Given the description of an element on the screen output the (x, y) to click on. 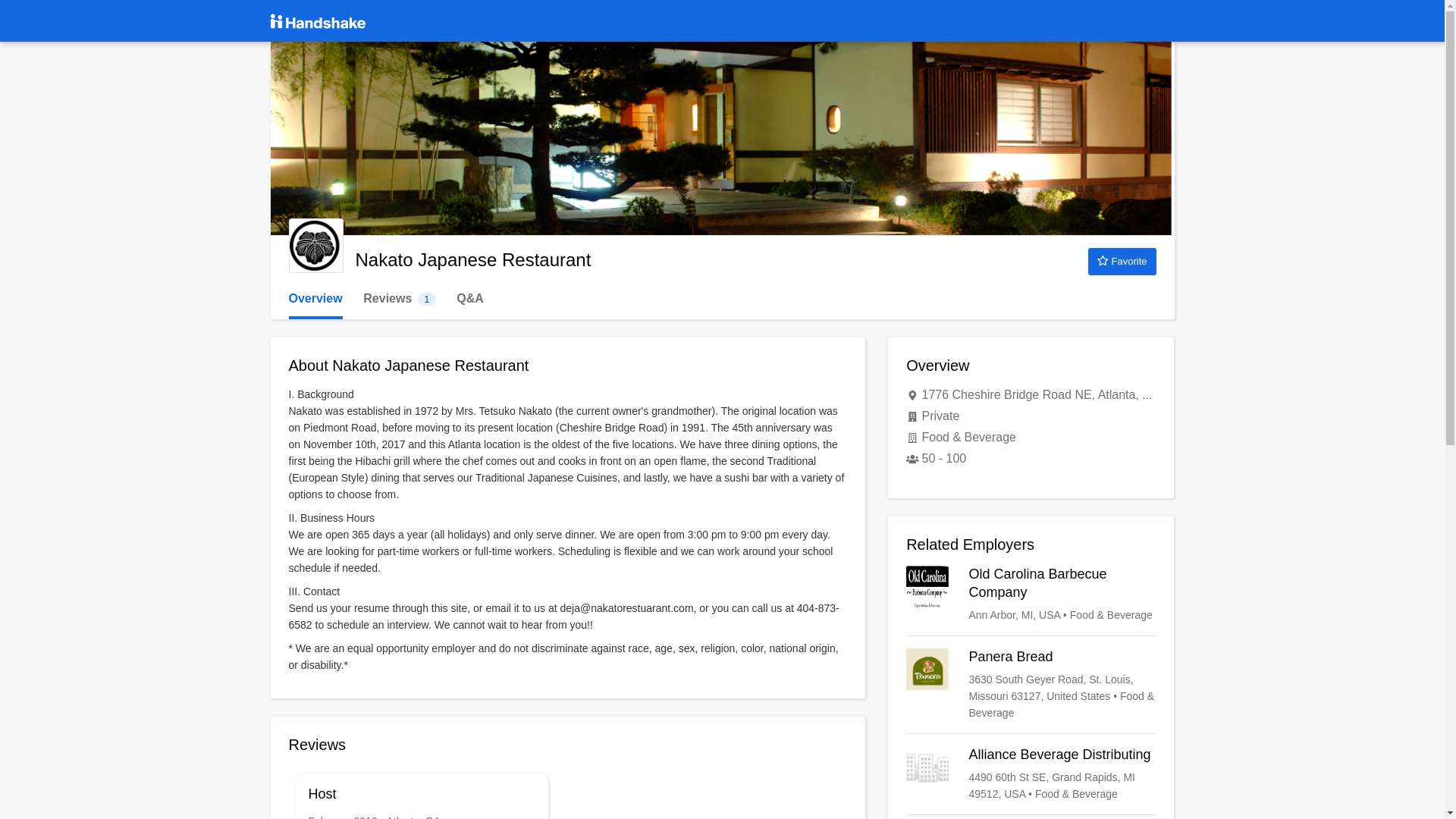
Nakato Japanese Restaurant (315, 245)
Alliance Beverage Distributing (1030, 774)
Panera Bread (1030, 684)
Overview (315, 298)
Old Carolina Barbecue Company (1030, 594)
Favorite (1121, 261)
